Given the description of an element on the screen output the (x, y) to click on. 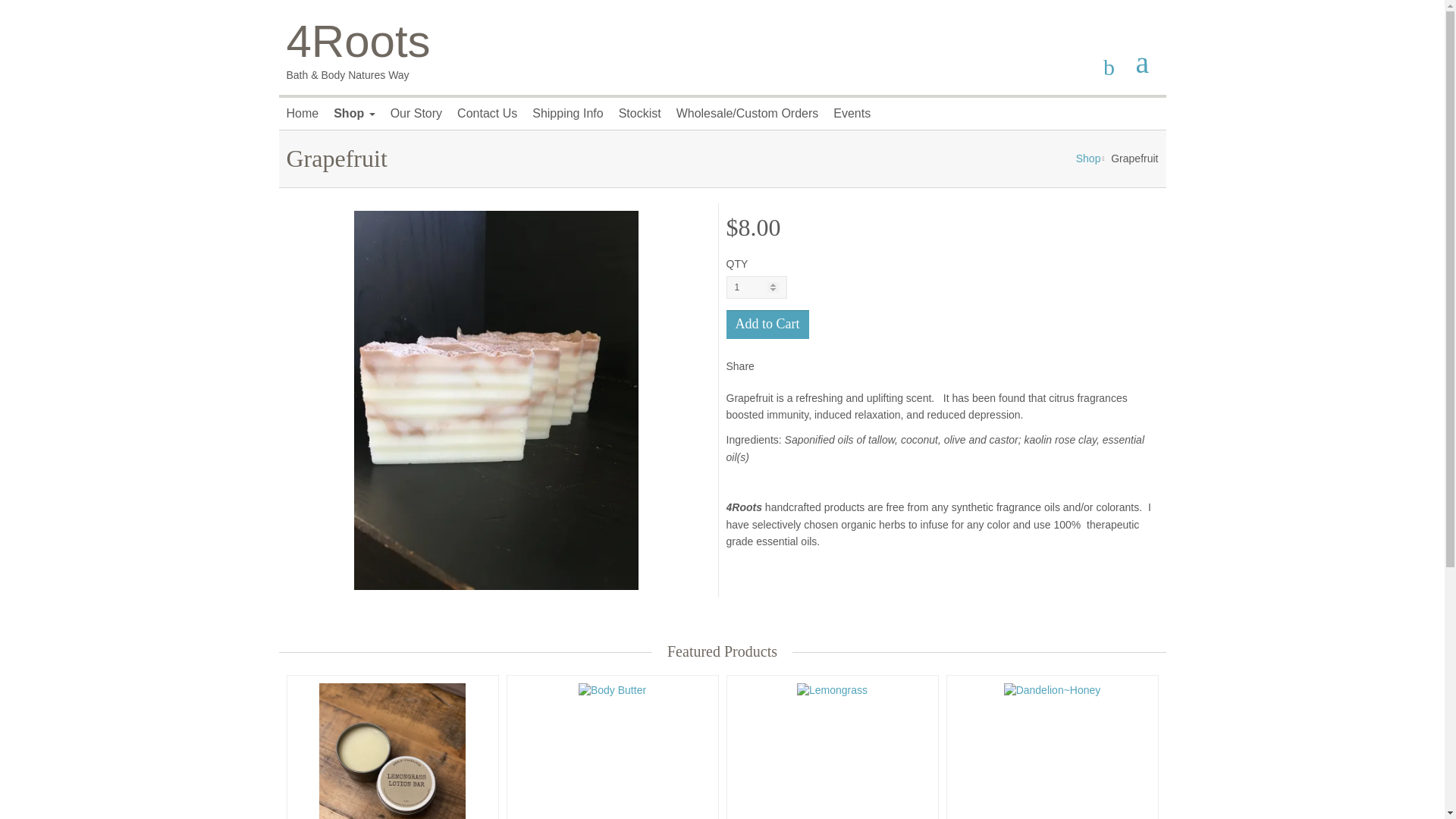
Shop (353, 113)
Add to Cart (767, 324)
Home (302, 113)
Stockist (639, 113)
Our Story (415, 113)
1 (756, 287)
4Roots (358, 40)
Add to Cart (767, 324)
Contact Us (486, 113)
0 (1150, 60)
Shipping Info (567, 113)
Events (851, 113)
Shop (1087, 158)
